Given the description of an element on the screen output the (x, y) to click on. 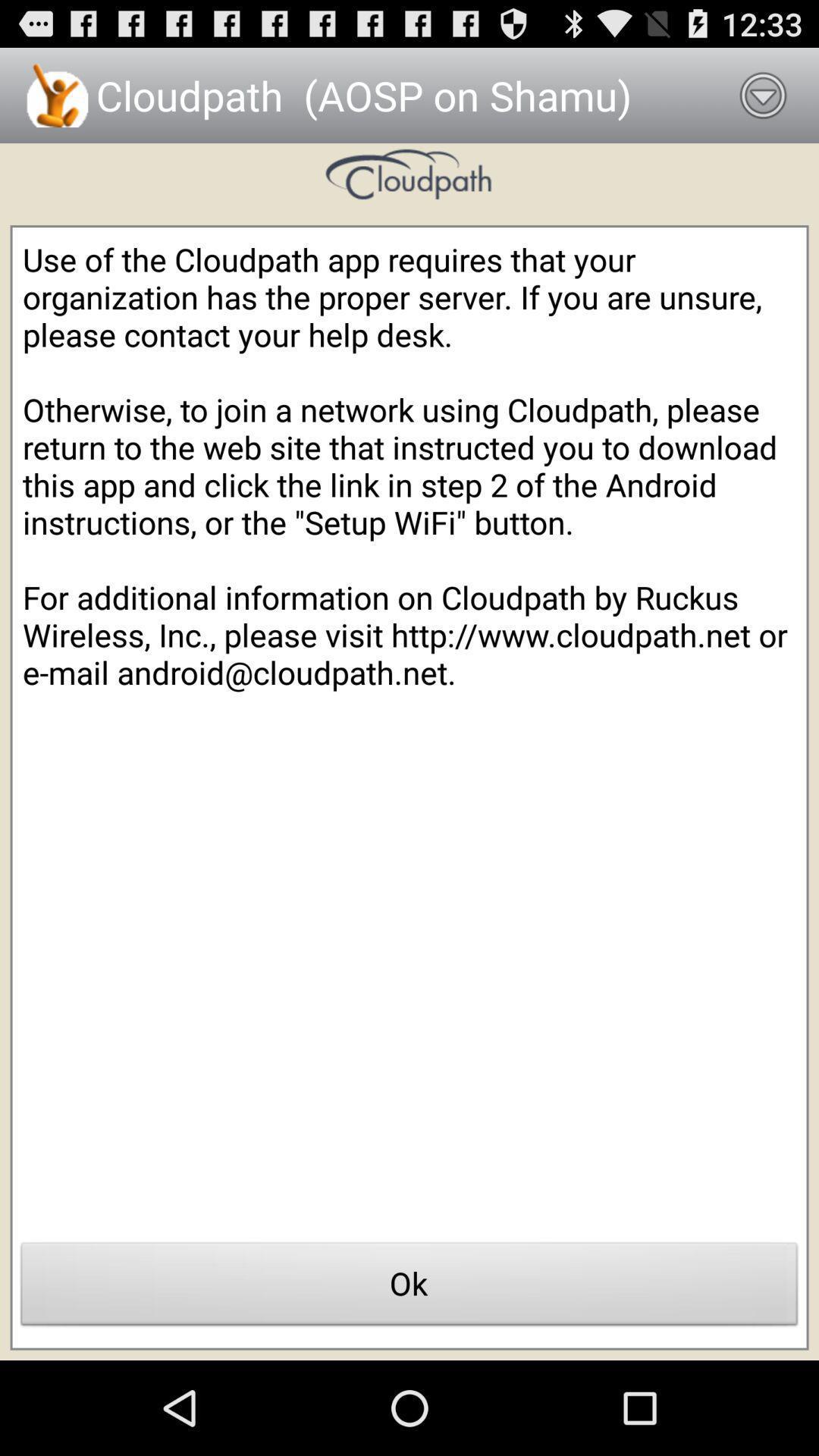
open icon at the bottom (409, 1287)
